Given the description of an element on the screen output the (x, y) to click on. 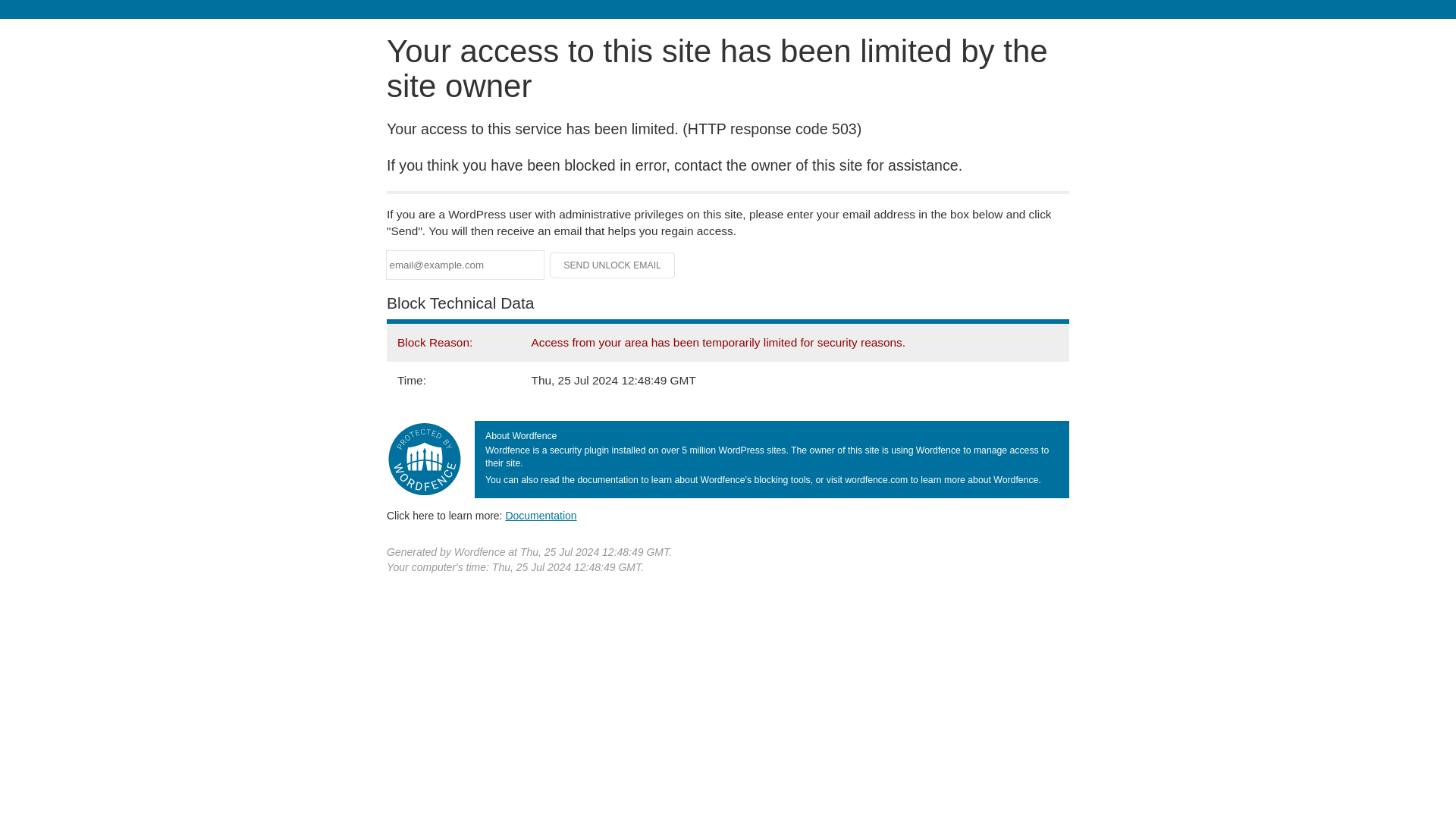
Send Unlock Email (612, 265)
Documentation (540, 515)
Send Unlock Email (612, 265)
